Given the description of an element on the screen output the (x, y) to click on. 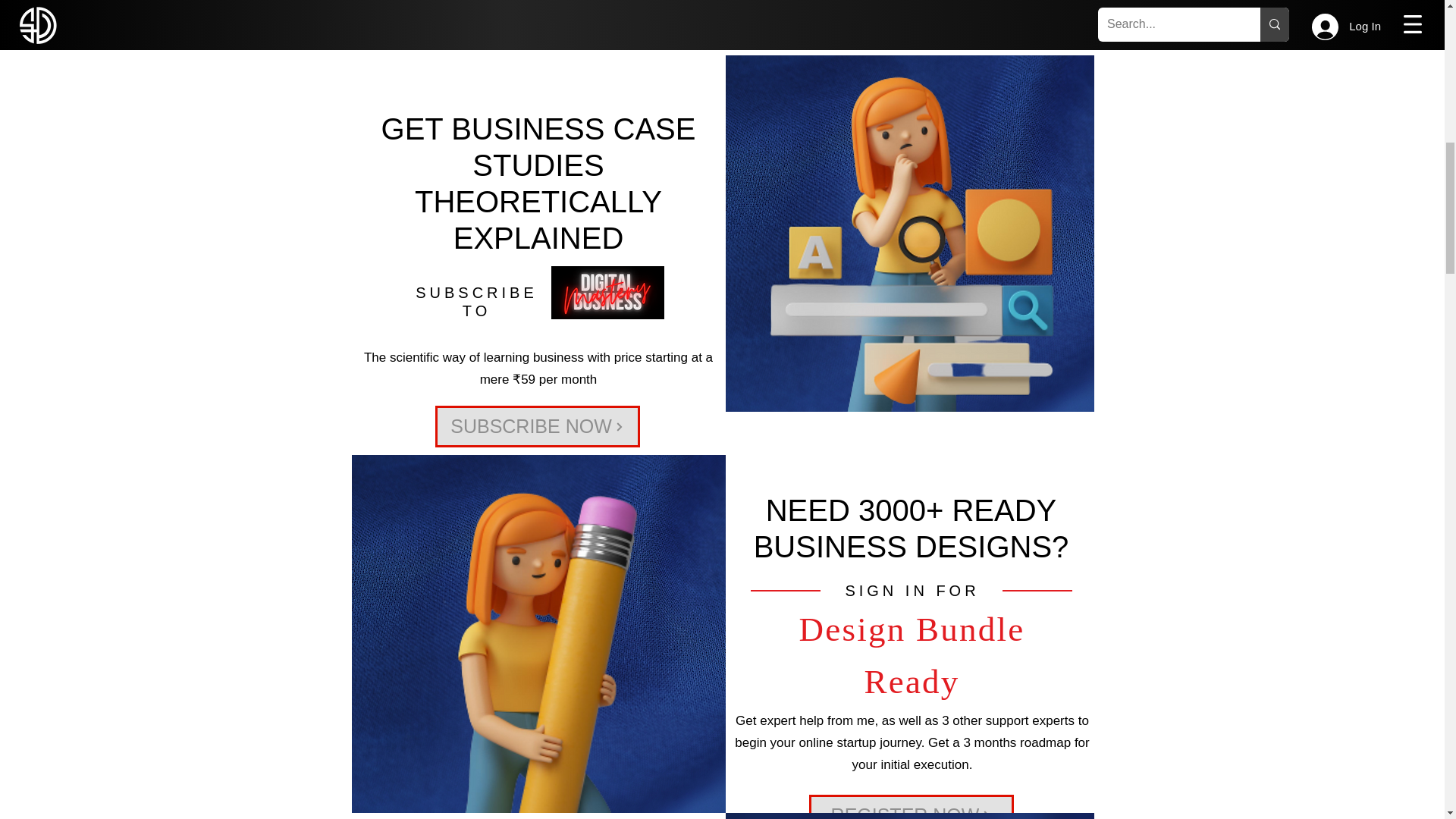
LEARN DIGITAL MARKETING (910, 7)
REGISTER NOW (910, 806)
SUBSCRIBE NOW (537, 426)
